Given the description of an element on the screen output the (x, y) to click on. 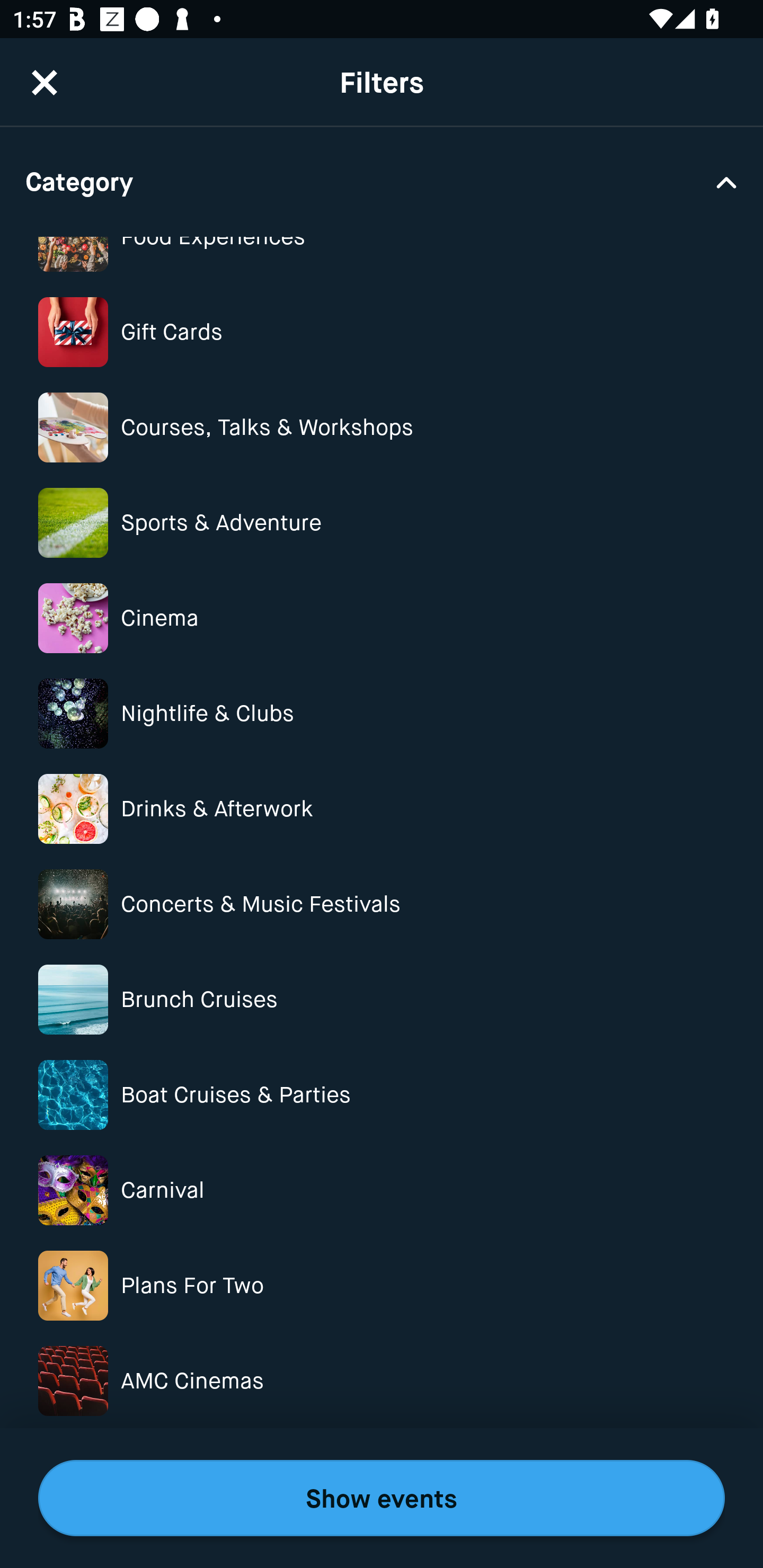
CloseButton (44, 70)
Category Drop Down Arrow (381, 181)
Category Image Gift Cards (381, 332)
Category Image Courses, Talks & Workshops (381, 426)
Category Image Sports & Adventure (381, 522)
Category Image Cinema (381, 618)
Category Image Nightlife & Clubs (381, 713)
Category Image Drinks & Afterwork (381, 808)
Category Image Concerts & Music Festivals (381, 903)
Category Image Brunch Cruises (381, 999)
Category Image Boat Cruises & Parties (381, 1094)
Category Image Carnival (381, 1189)
Category Image Plans For Two (381, 1285)
Category Image AMC Cinemas (381, 1380)
Show events (381, 1497)
